Given the description of an element on the screen output the (x, y) to click on. 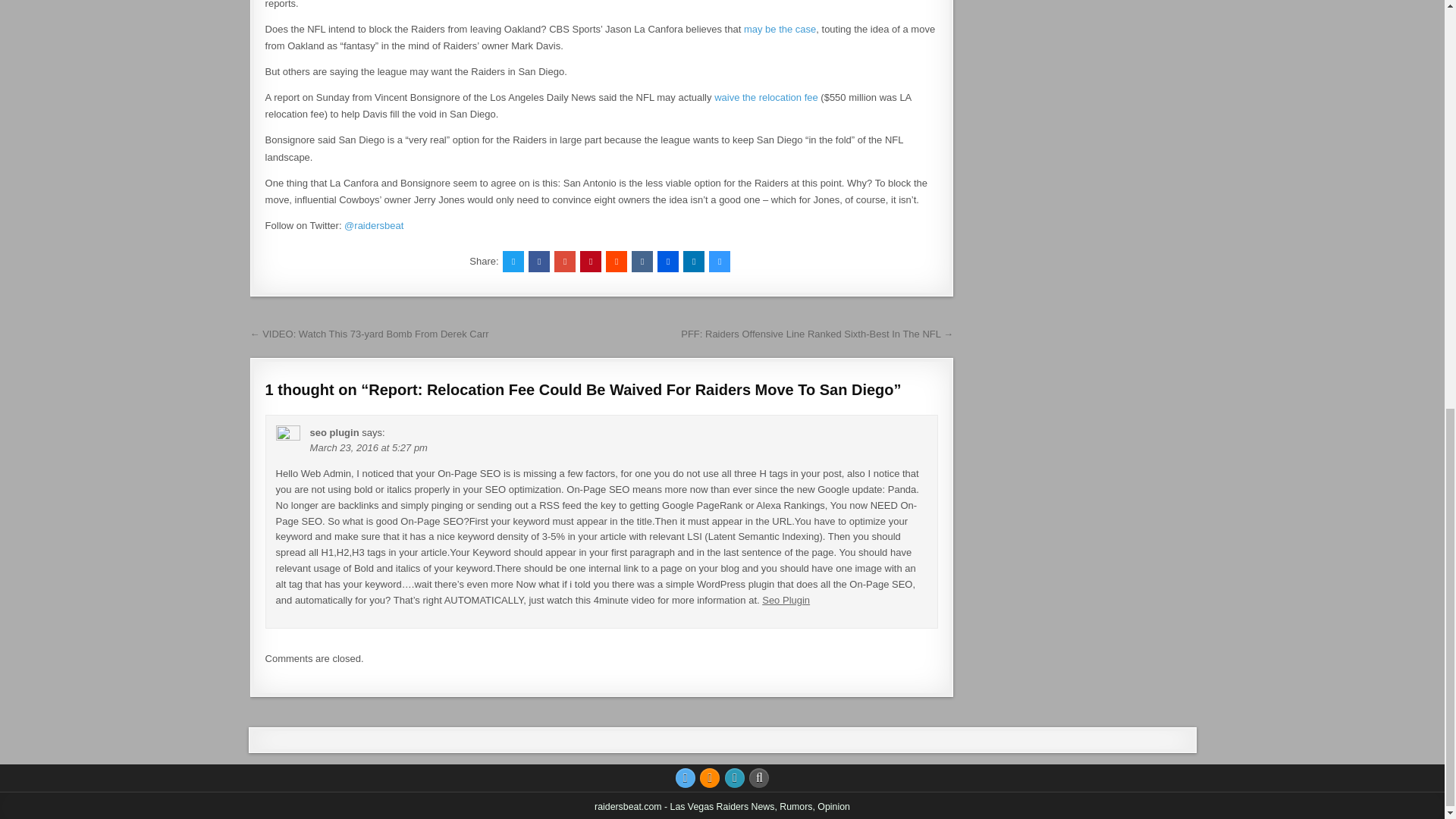
Share this on Pinterest (590, 260)
Share this on Linkedin (693, 260)
waive the relocation fee (766, 97)
Share this on Facebook (539, 260)
Twitter (685, 777)
Share this on Delicious (719, 260)
Share this on VK (641, 260)
seo plugin (334, 432)
may be the case (779, 29)
March 23, 2016 at 5:27 pm (369, 447)
